Given the description of an element on the screen output the (x, y) to click on. 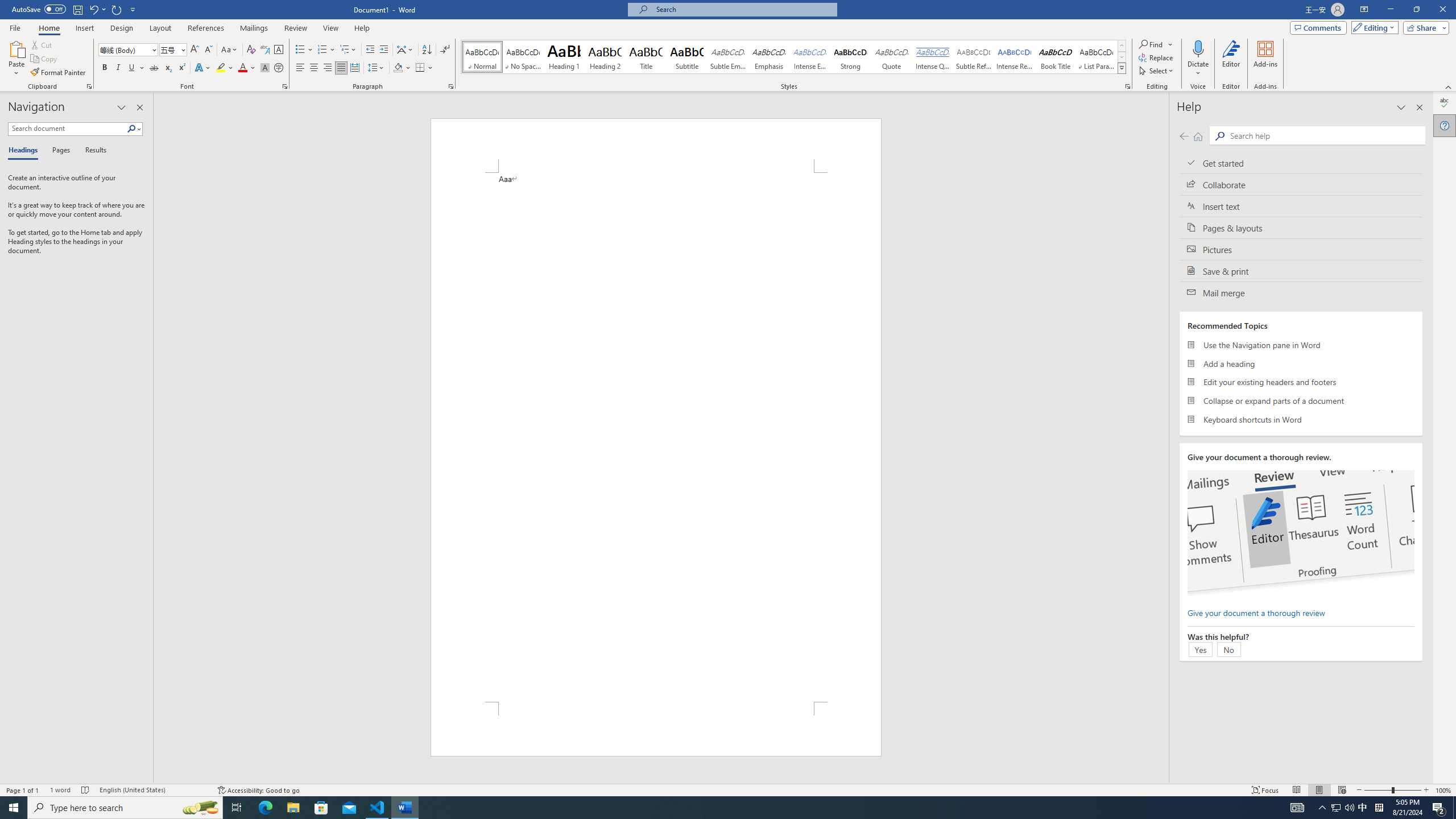
Grow Font (193, 49)
Heading 1 (564, 56)
Subscript (167, 67)
Font Color (246, 67)
Yes (1200, 649)
Class: NetUIScrollBar (1163, 437)
Styles (1121, 67)
Insert (83, 28)
Underline (131, 67)
Select (1157, 69)
Print Layout (1318, 790)
Previous page (1183, 136)
Line and Paragraph Spacing (376, 67)
Intense Quote (932, 56)
Editor (1231, 58)
